Given the description of an element on the screen output the (x, y) to click on. 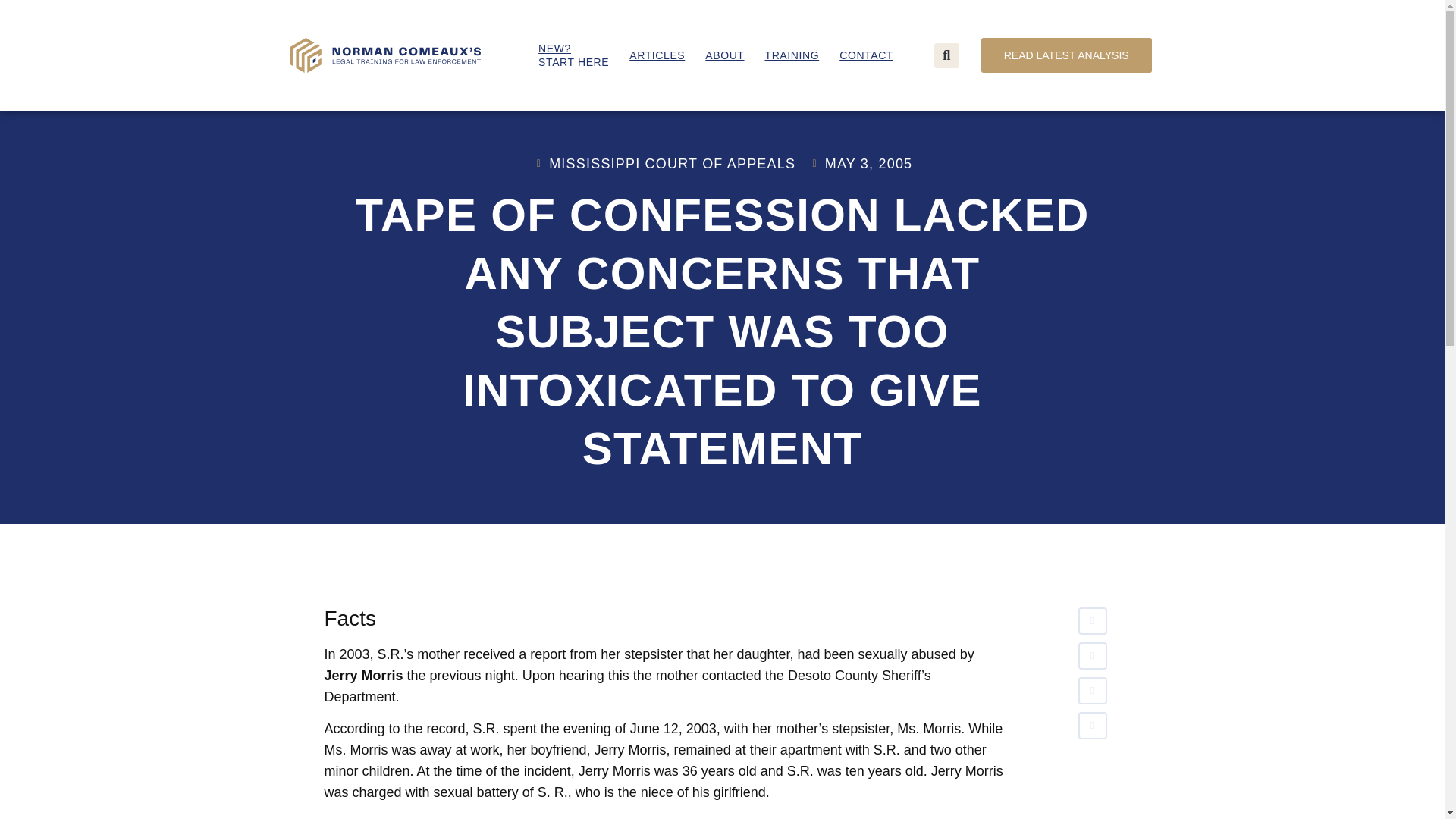
TRAINING (791, 54)
ARTICLES (573, 54)
CONTACT (656, 54)
READ LATEST ANALYSIS (866, 54)
